Given the description of an element on the screen output the (x, y) to click on. 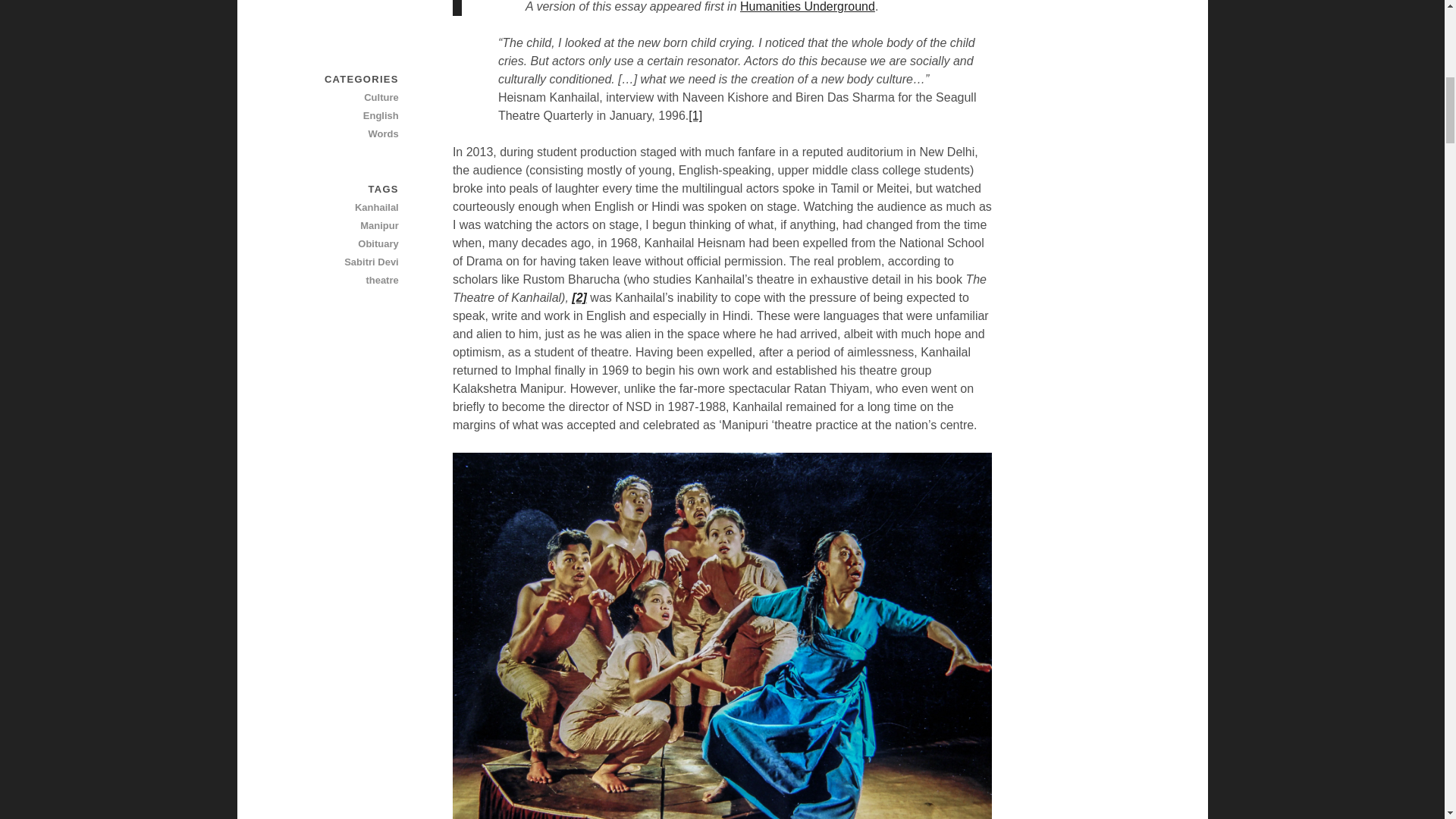
Humanities Underground (807, 6)
